Given the description of an element on the screen output the (x, y) to click on. 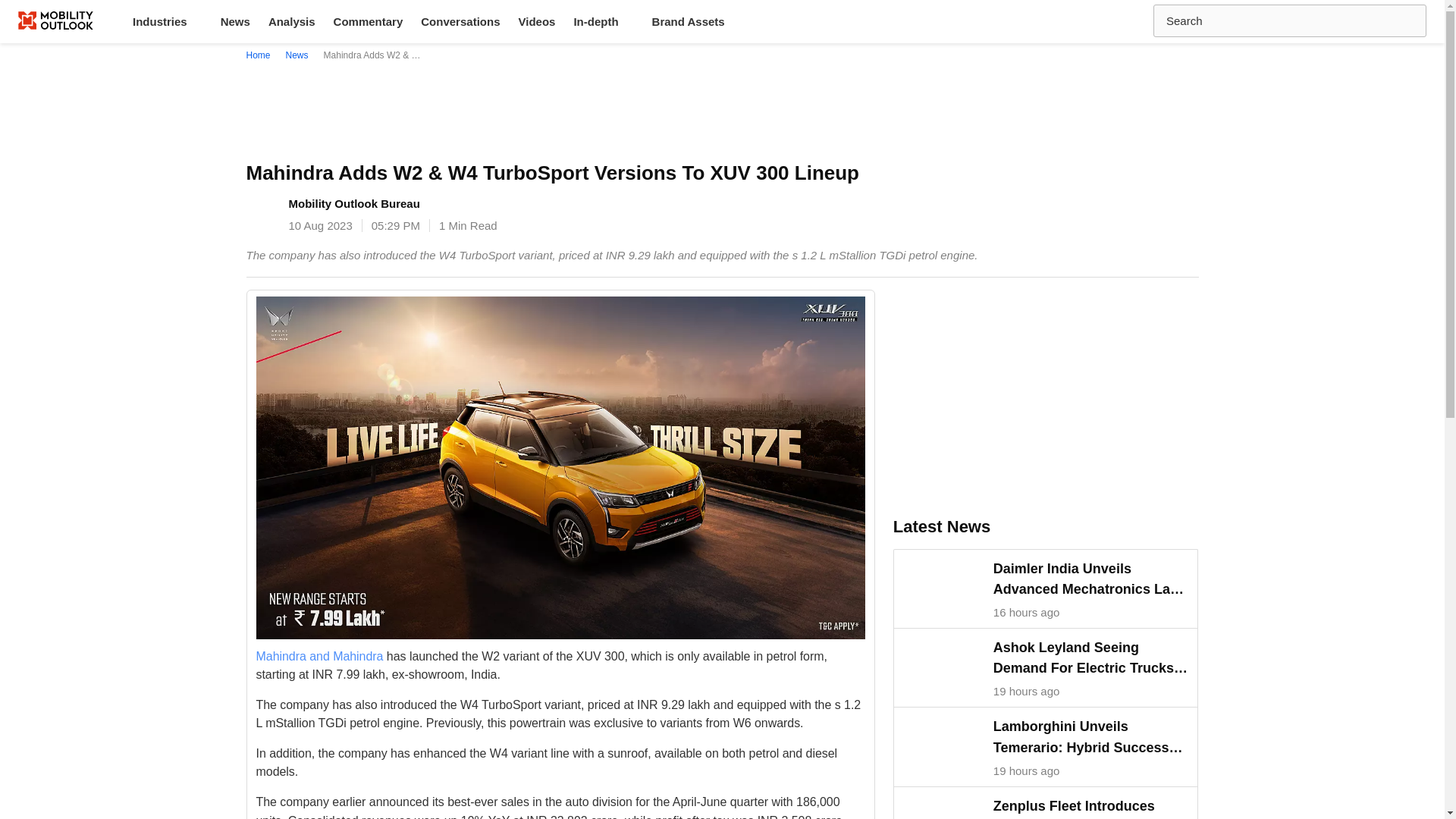
News (235, 20)
Home (261, 54)
Mobility Outlook Bureau (353, 203)
News (235, 20)
Commentary (368, 20)
Mahindra and Mahindra (320, 655)
Videos (536, 20)
News (296, 54)
news (296, 54)
